Given the description of an element on the screen output the (x, y) to click on. 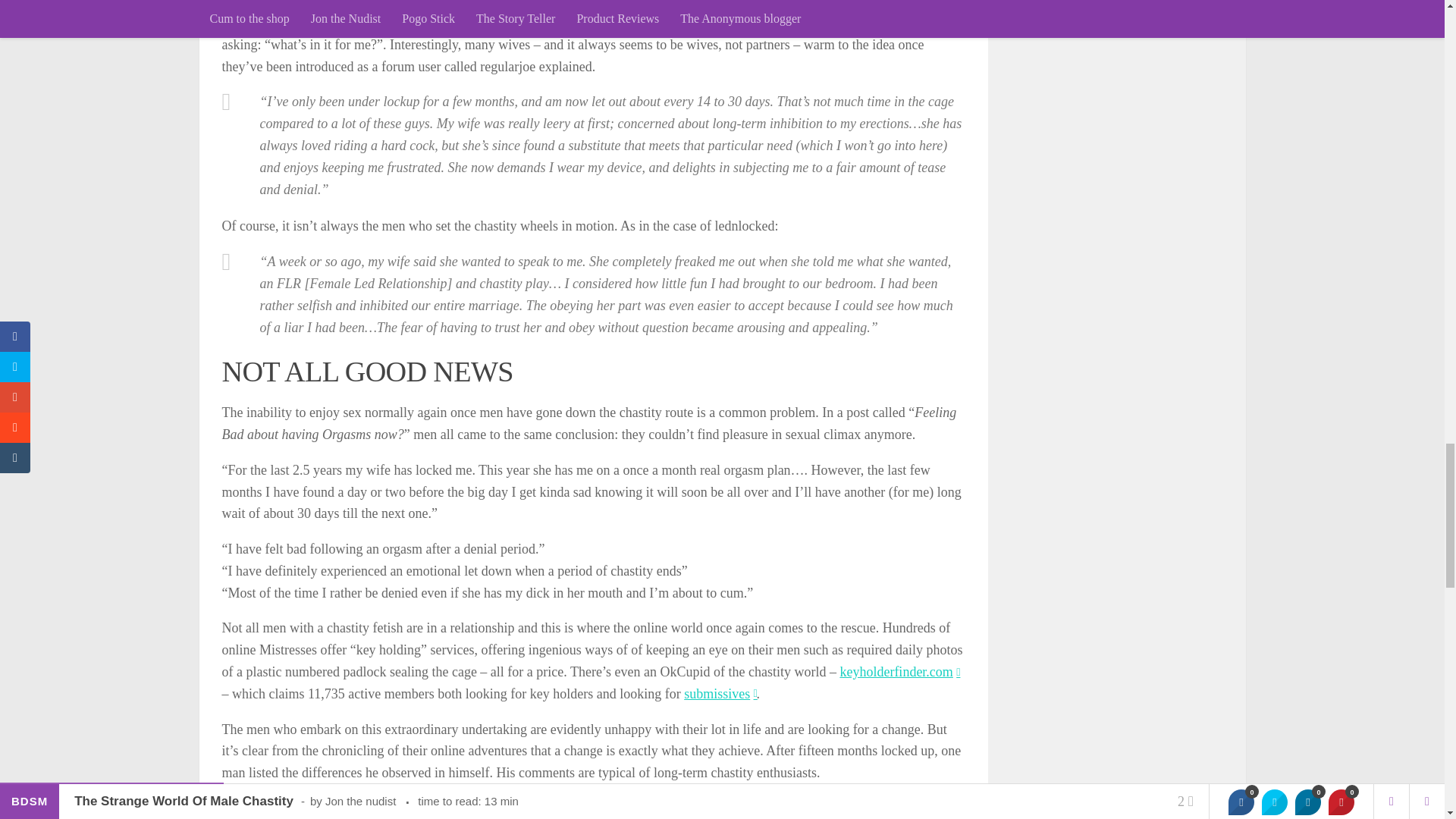
My first time as a sub (719, 693)
keyholderfinder.com (899, 671)
